Given the description of an element on the screen output the (x, y) to click on. 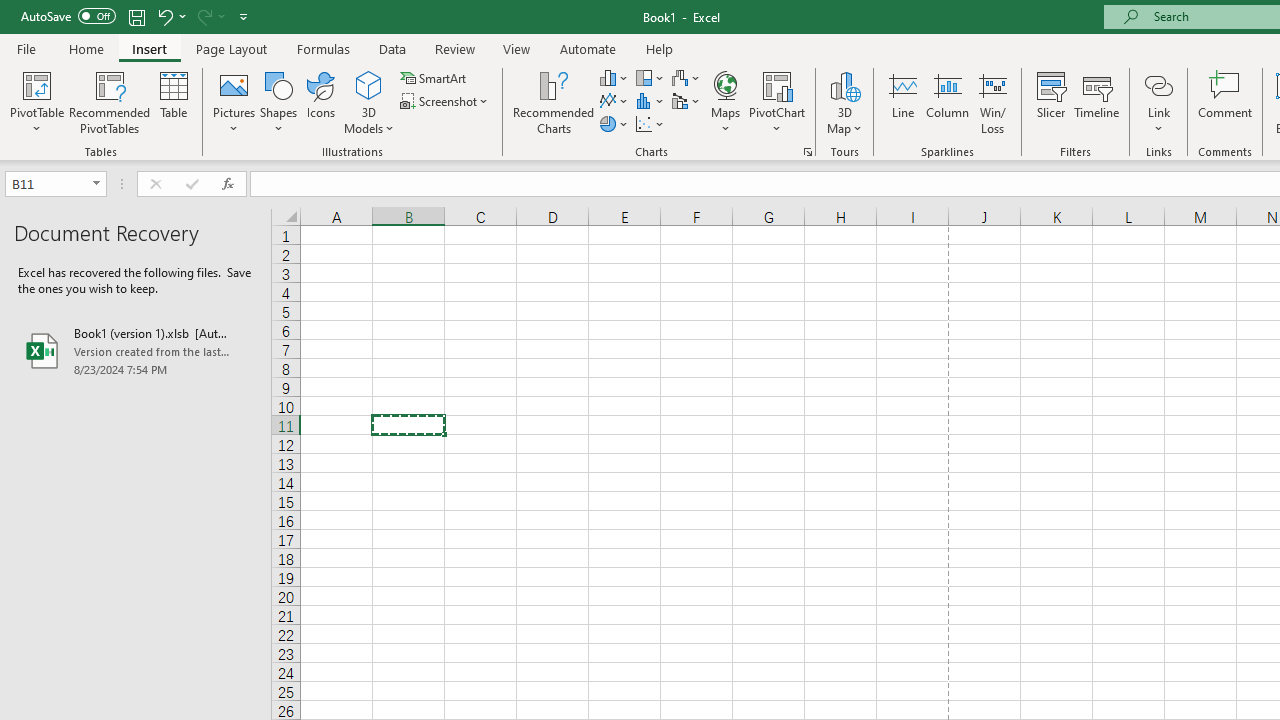
3D Map (845, 102)
Recommended PivotTables (109, 102)
PivotTable (36, 102)
Insert Column or Bar Chart (614, 78)
Line (902, 102)
3D Models (368, 84)
PivotChart (777, 102)
Insert Pie or Doughnut Chart (614, 124)
Pictures (234, 102)
Insert Scatter (X, Y) or Bubble Chart (651, 124)
Insert Hierarchy Chart (651, 78)
